Given the description of an element on the screen output the (x, y) to click on. 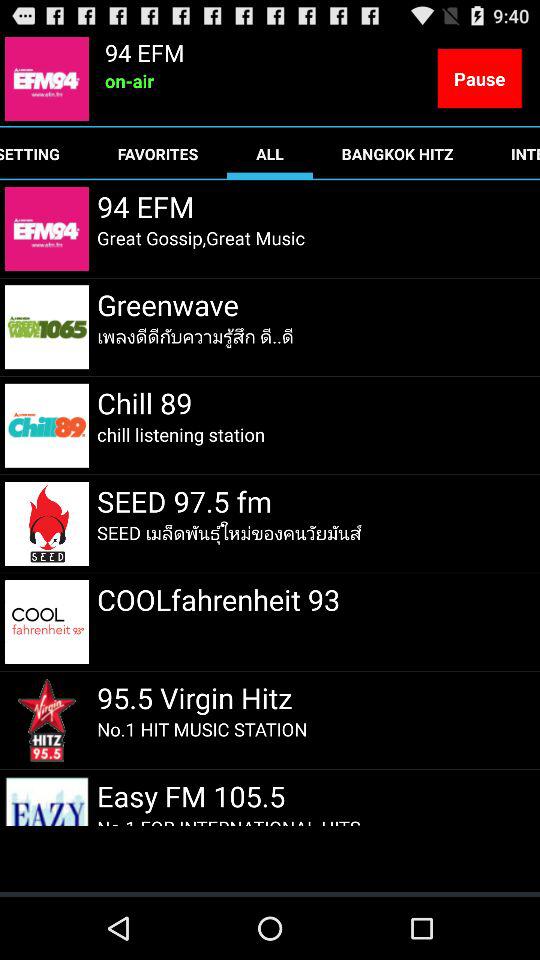
turn off icon to the left of the favorites (44, 153)
